Given the description of an element on the screen output the (x, y) to click on. 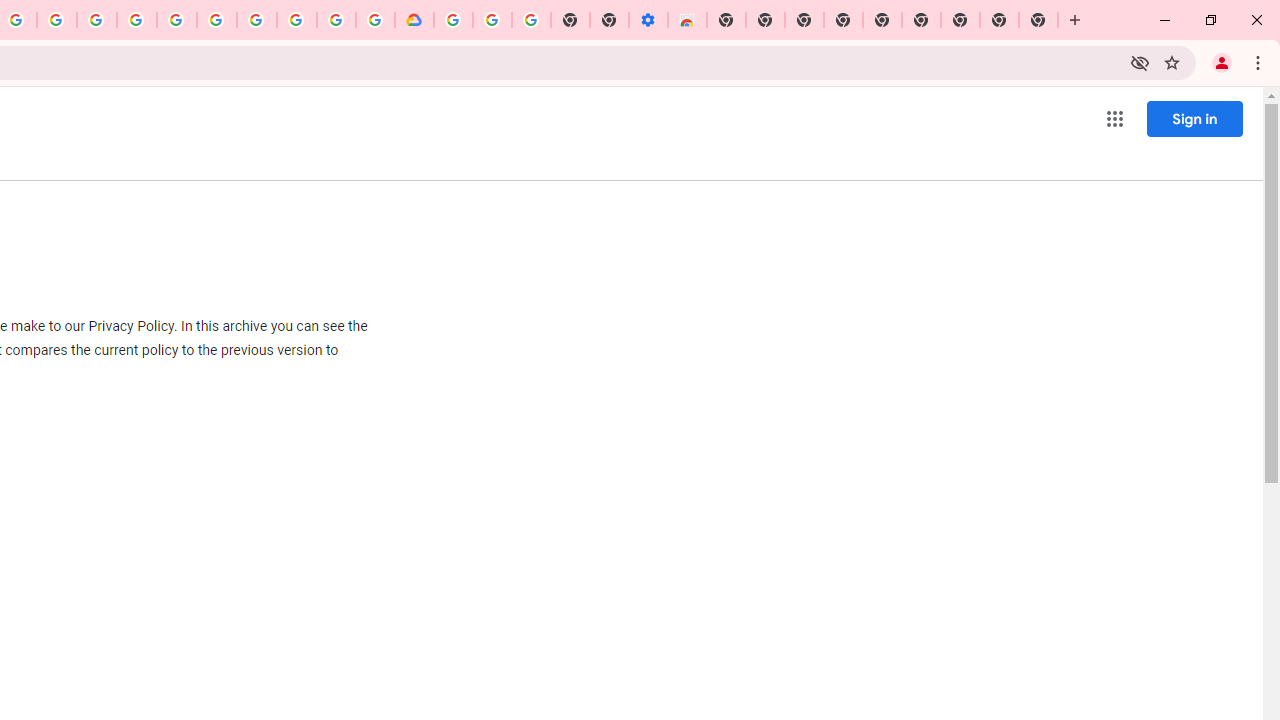
Chrome Web Store - Accessibility extensions (687, 20)
Turn cookies on or off - Computer - Google Account Help (531, 20)
New Tab (726, 20)
Create your Google Account (336, 20)
Google Account Help (491, 20)
Browse the Google Chrome Community - Google Chrome Community (375, 20)
